Given the description of an element on the screen output the (x, y) to click on. 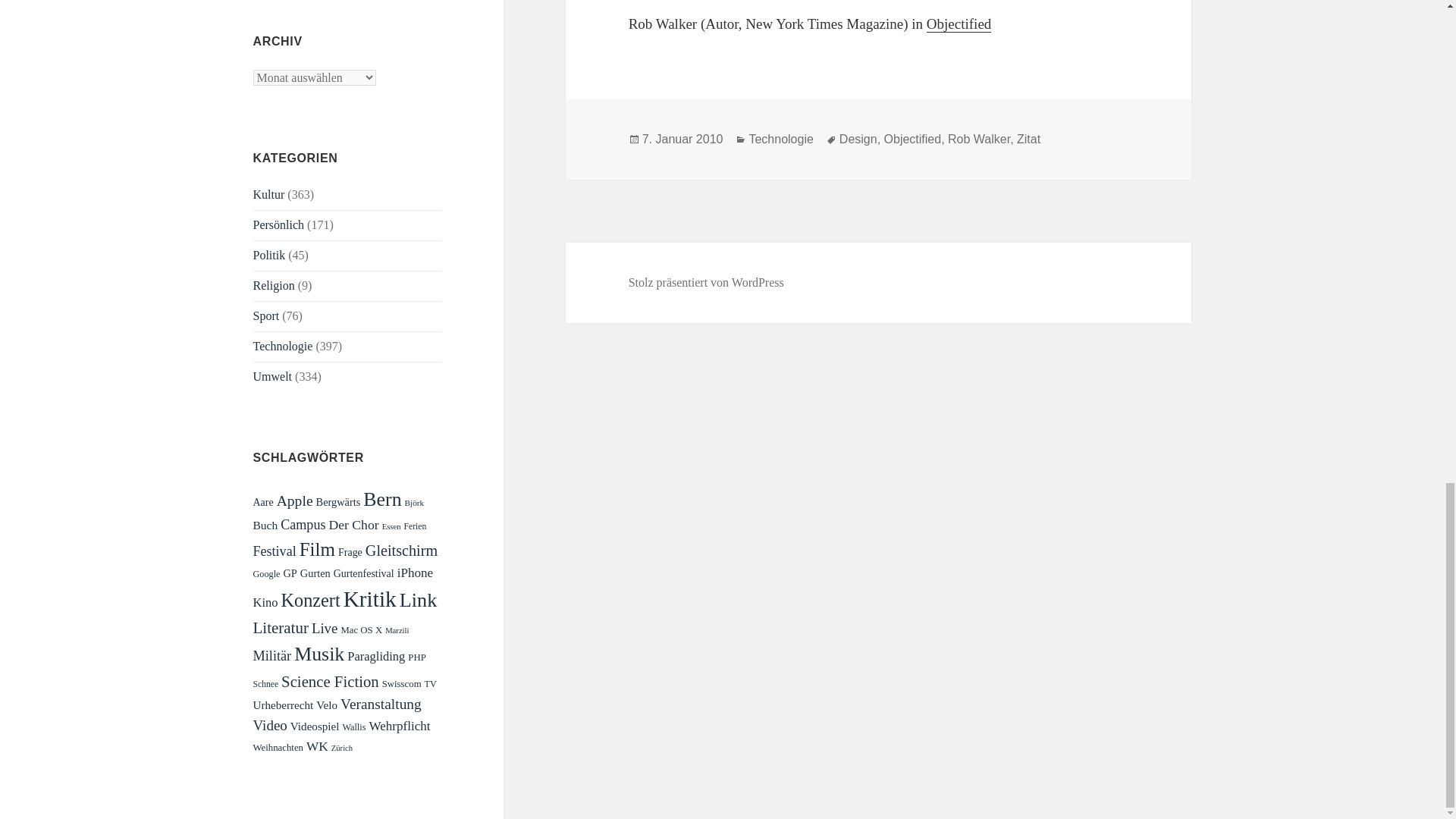
Campus (302, 524)
Bern (381, 499)
Buch (265, 524)
Technologie (283, 345)
Umwelt (272, 376)
Festival (275, 550)
Ferien (415, 526)
Politik (269, 254)
Apple (294, 500)
Frage (349, 552)
